Given the description of an element on the screen output the (x, y) to click on. 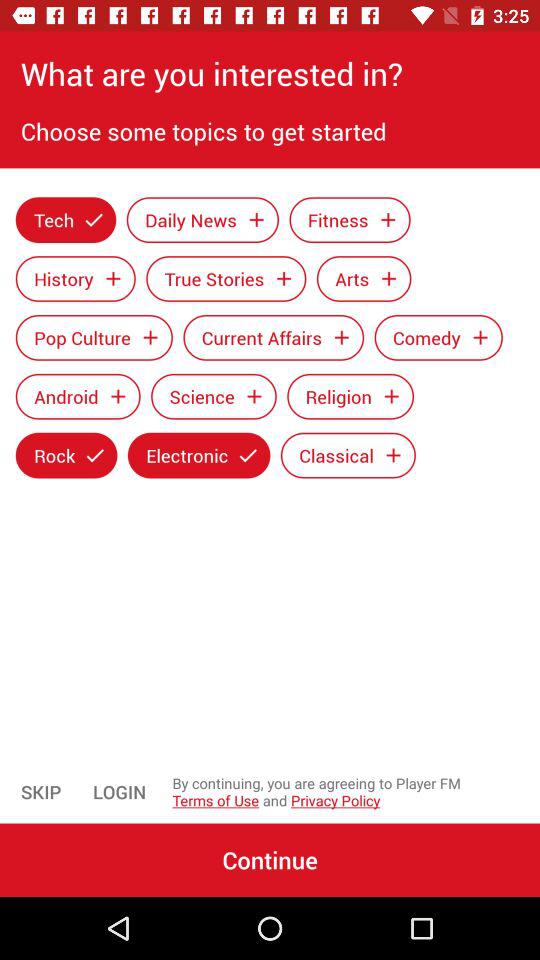
open item to the left of the login item (41, 791)
